Given the description of an element on the screen output the (x, y) to click on. 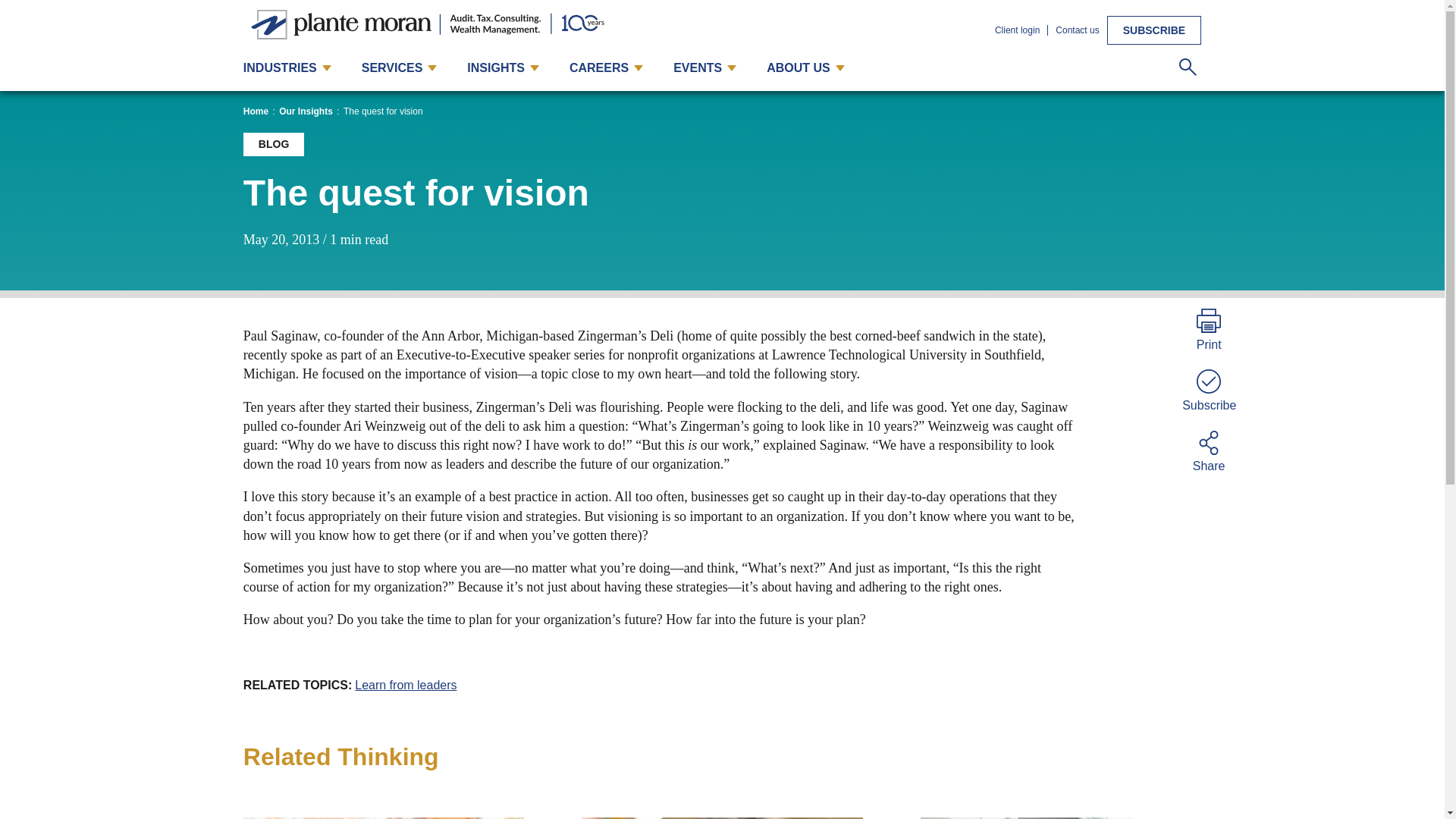
SUBSCRIBE (1153, 30)
Contact us (1077, 30)
Contact us (1077, 30)
Client login (1016, 30)
Client Login (1016, 30)
Subscribe Now (1153, 30)
